Given the description of an element on the screen output the (x, y) to click on. 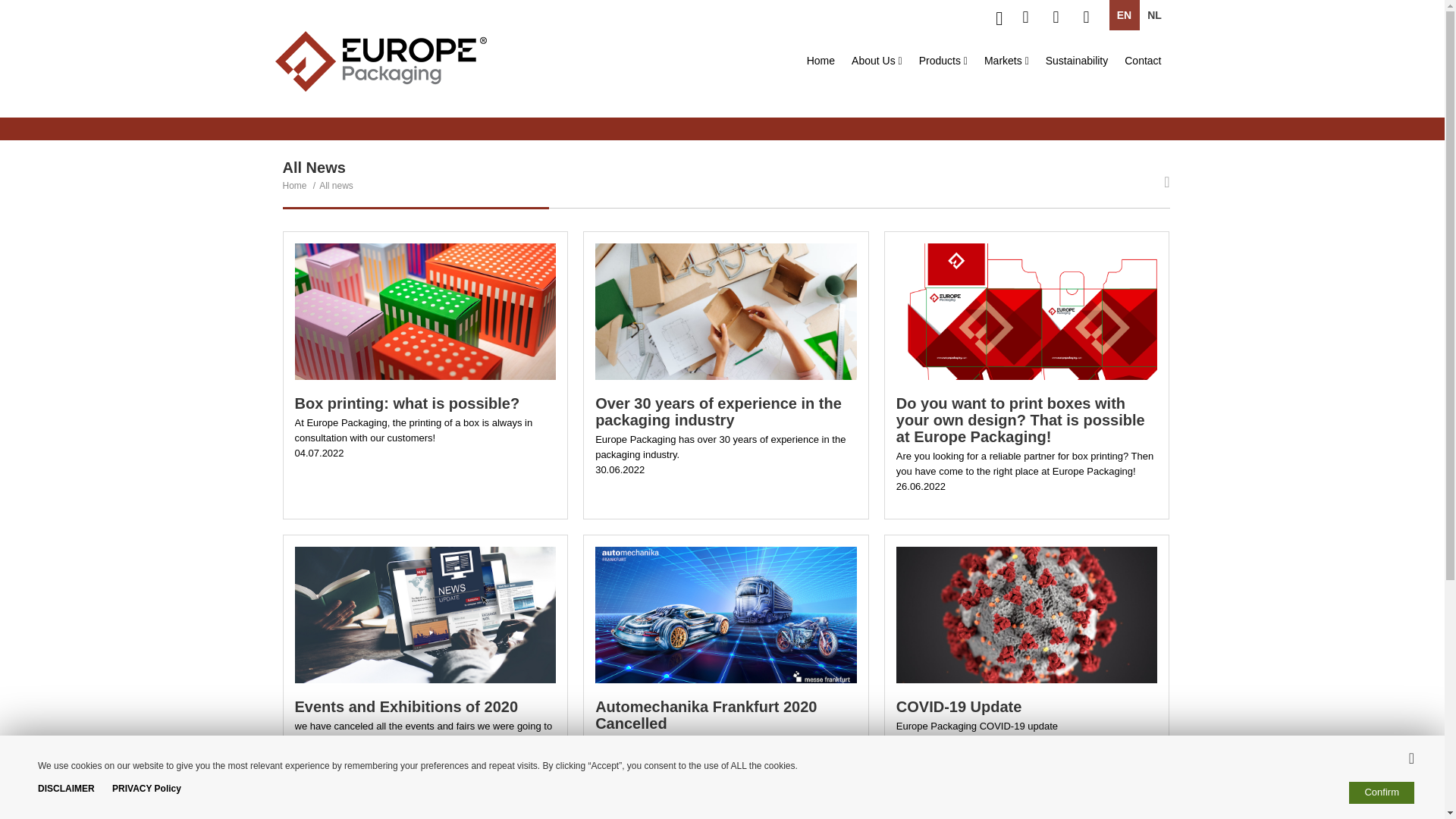
NL (1153, 15)
Home (820, 60)
EN (1123, 15)
About Us (877, 60)
